Given the description of an element on the screen output the (x, y) to click on. 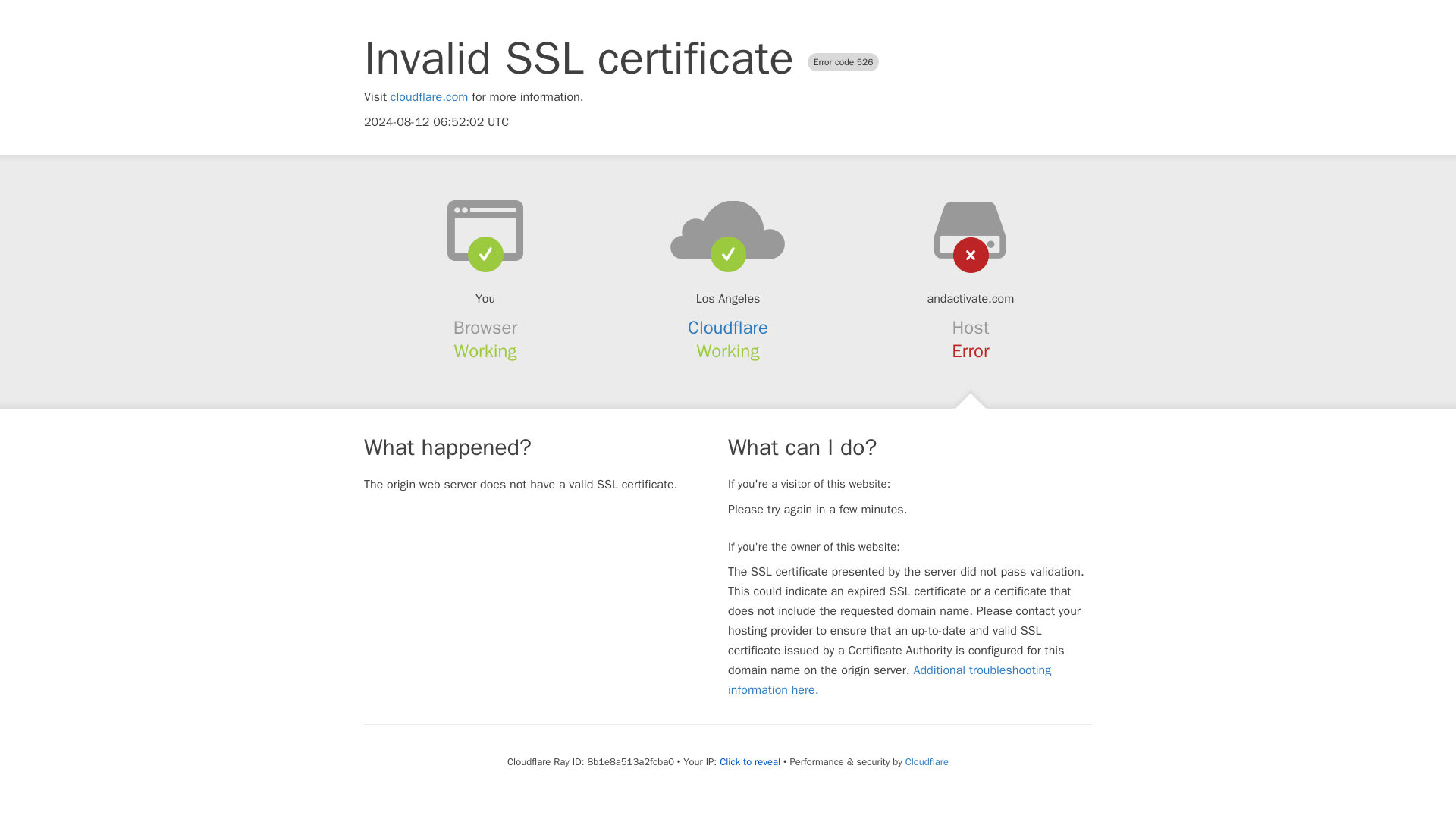
Cloudflare (727, 327)
Additional troubleshooting information here. (889, 679)
cloudflare.com (429, 96)
Click to reveal (749, 762)
Cloudflare (927, 761)
